Given the description of an element on the screen output the (x, y) to click on. 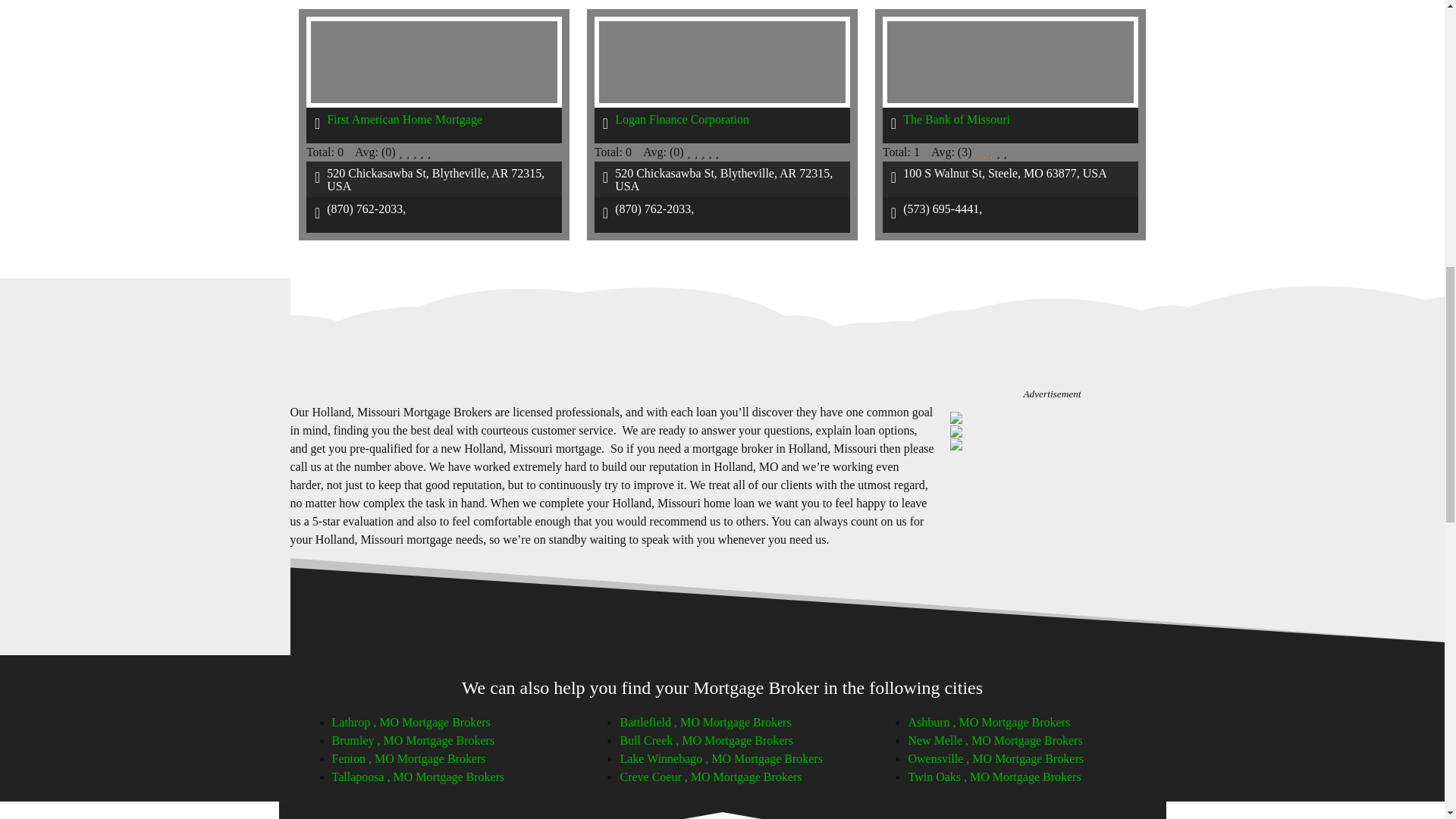
Owensville , MO Mortgage Brokers (995, 758)
The Bank of Missouri (956, 119)
Twin Oaks , MO Mortgage Brokers (993, 776)
Logan Finance Corporation (681, 119)
Bull Creek , MO Mortgage Brokers (706, 739)
Fenton , MO Mortgage Brokers (408, 758)
Tallapoosa , MO Mortgage Brokers (418, 776)
New Melle , MO Mortgage Brokers (994, 739)
Battlefield , MO Mortgage Brokers (705, 721)
Creve Coeur , MO Mortgage Brokers (711, 776)
